Given the description of an element on the screen output the (x, y) to click on. 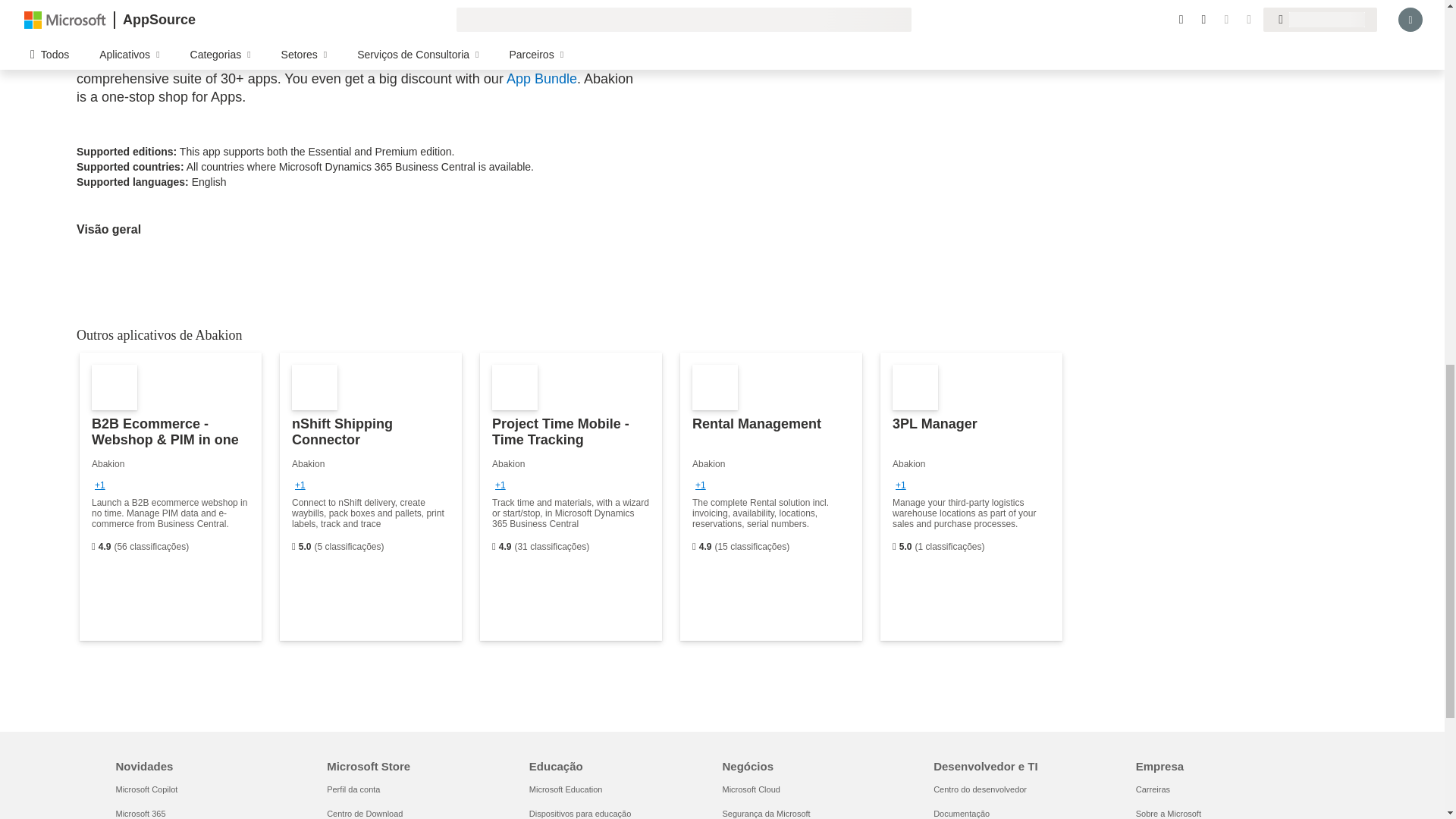
Microsoft 365 (140, 813)
App Bundle (541, 78)
Microsoft Education (565, 788)
Perfil da conta (353, 788)
Centro de Download (364, 813)
Microsoft Copilot (146, 788)
Abakion (101, 42)
